Given the description of an element on the screen output the (x, y) to click on. 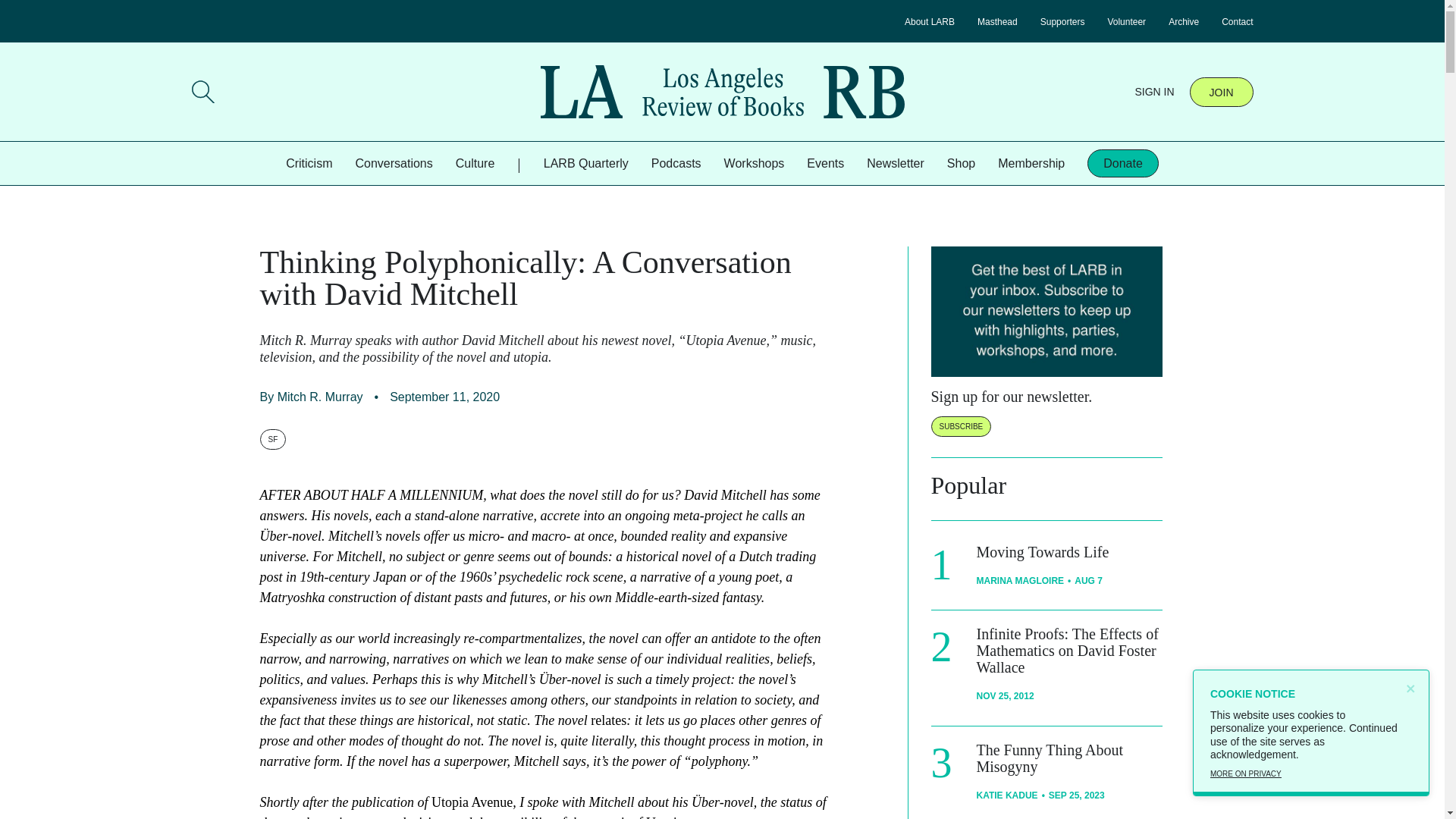
Conversations (393, 163)
Newsletter (895, 163)
Masthead (996, 21)
Podcasts (675, 163)
SF (272, 439)
Sign up for our newsletter. (1012, 396)
Volunteer (1125, 21)
Culture (475, 163)
Membership (1030, 163)
Workshops (753, 163)
